Given the description of an element on the screen output the (x, y) to click on. 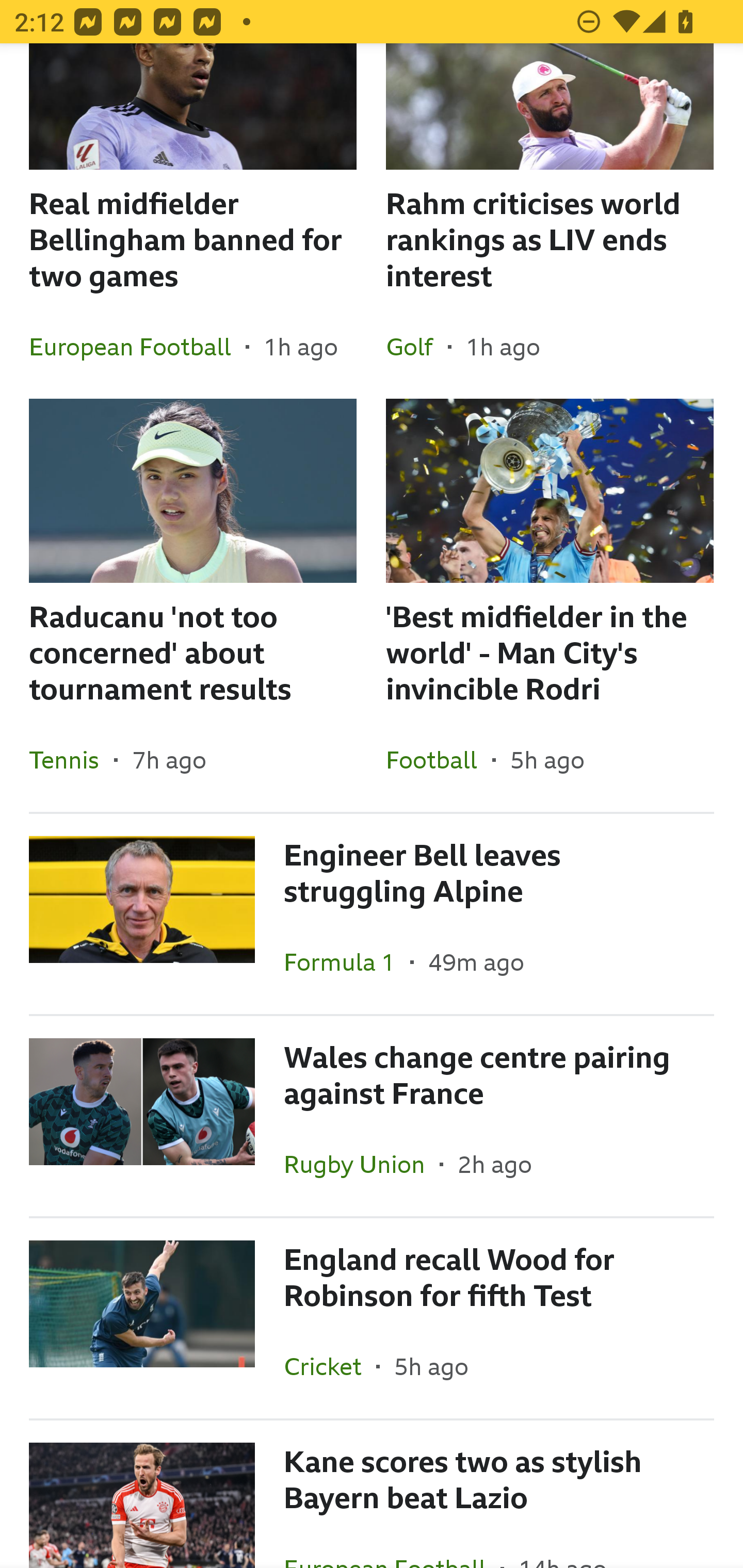
European Football In the section European Football (136, 346)
Golf In the section Golf (416, 346)
Tennis In the section Tennis (70, 759)
Football In the section Football (438, 759)
Formula 1 In the section Formula 1 (346, 961)
Rugby Union In the section Rugby Union (361, 1163)
Cricket In the section Cricket (329, 1366)
European Football In the section European Football (391, 1542)
